Given the description of an element on the screen output the (x, y) to click on. 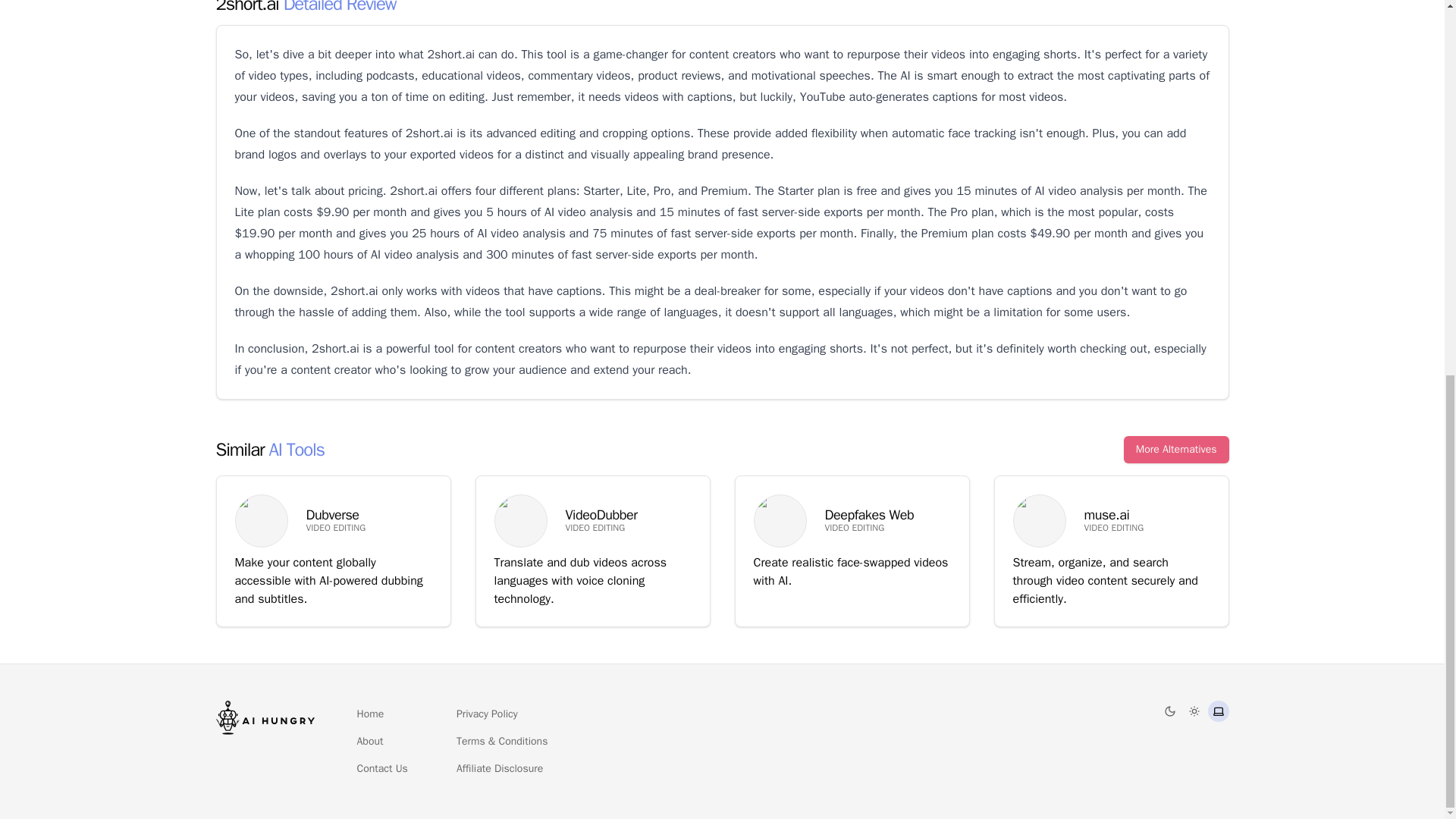
dark (1168, 711)
More Alternatives (1176, 449)
Home (370, 714)
system (1217, 711)
About (369, 741)
Contact Us (381, 768)
light (1193, 711)
Privacy Policy (486, 714)
Affiliate Disclosure (498, 768)
